Given the description of an element on the screen output the (x, y) to click on. 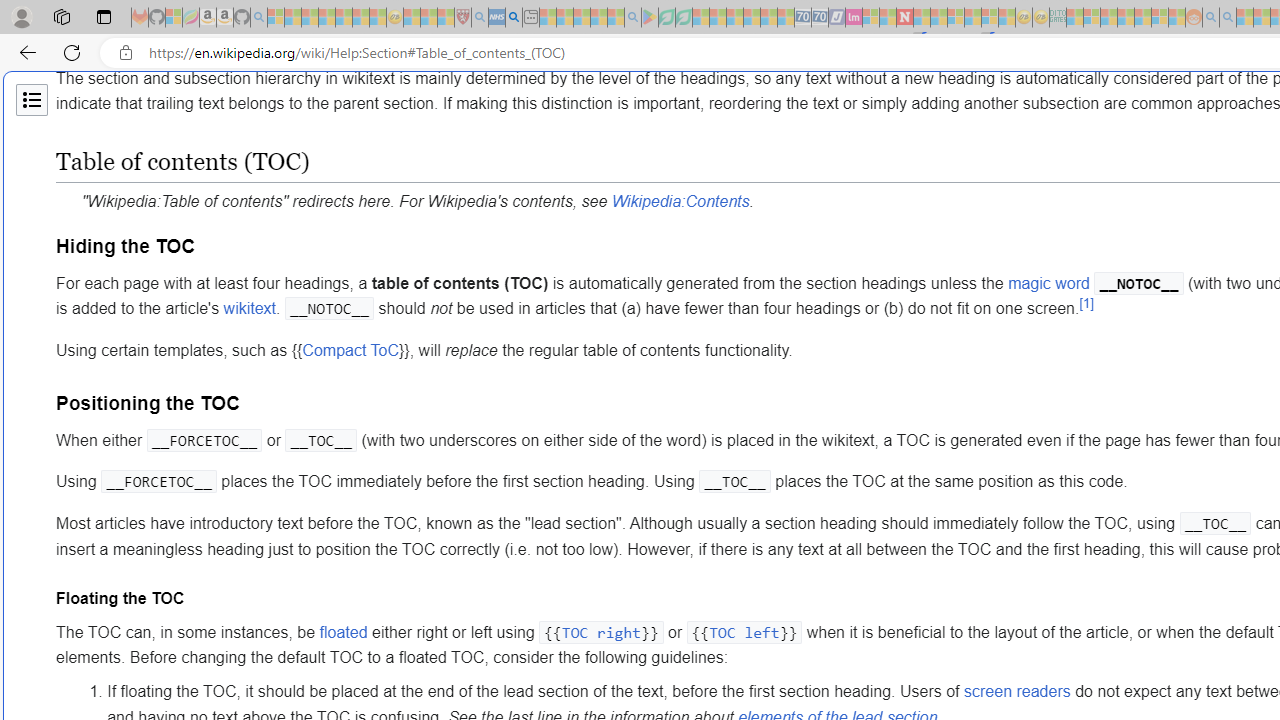
Expert Portfolios - Sleeping (1125, 17)
floated (343, 631)
Latest Politics News & Archive | Newsweek.com - Sleeping (904, 17)
DITOGAMES AG Imprint - Sleeping (1057, 17)
